Given the description of an element on the screen output the (x, y) to click on. 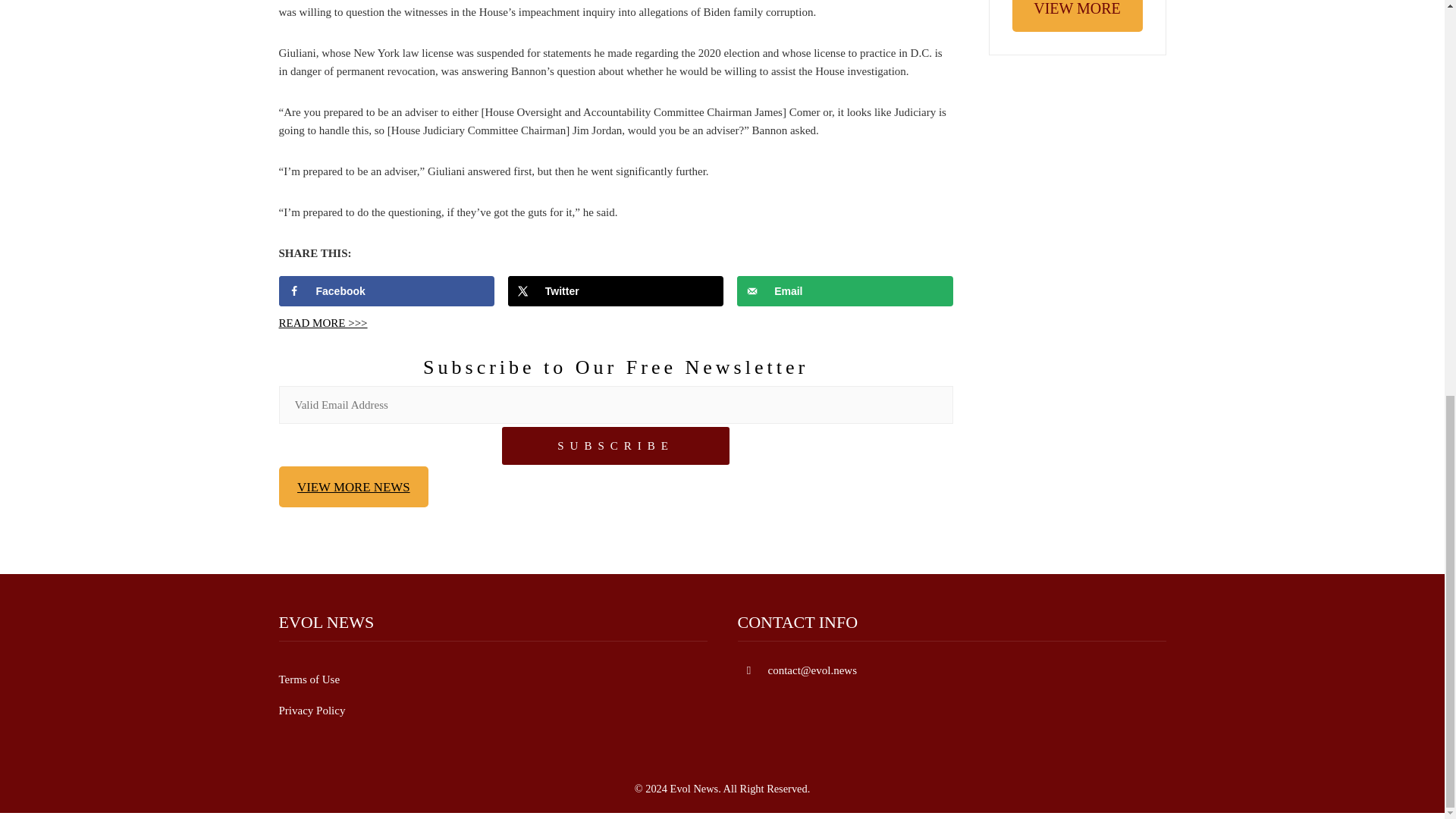
Share on Facebook (387, 291)
SUBSCRIBE (615, 445)
Privacy Policy (312, 710)
Send over email (844, 291)
Facebook (387, 291)
Share on X (615, 291)
Twitter (615, 291)
VIEW MORE (1076, 15)
Terms of Use (309, 679)
VIEW MORE NEWS (354, 486)
